Given the description of an element on the screen output the (x, y) to click on. 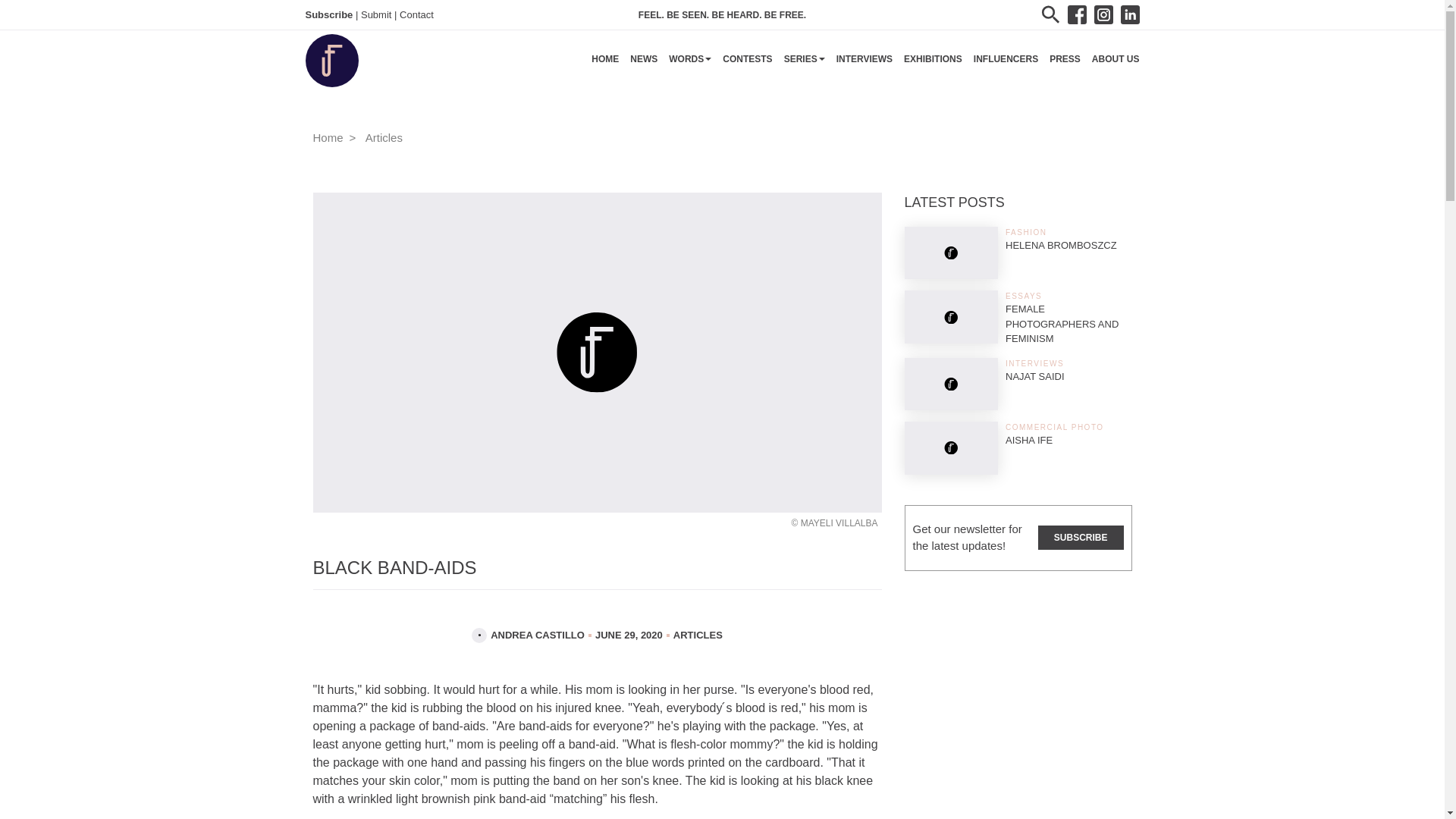
Najat Saidi (1035, 376)
Instagram (1102, 14)
Facebook (1076, 14)
Contact (415, 14)
Aisha Ife  (1029, 439)
ABOUT US (1116, 61)
FEMALE PHOTOGRAPHERS AND FEMINISM (1062, 323)
WORDS (689, 65)
PRESS (1064, 61)
EXHIBITIONS (933, 61)
